Given the description of an element on the screen output the (x, y) to click on. 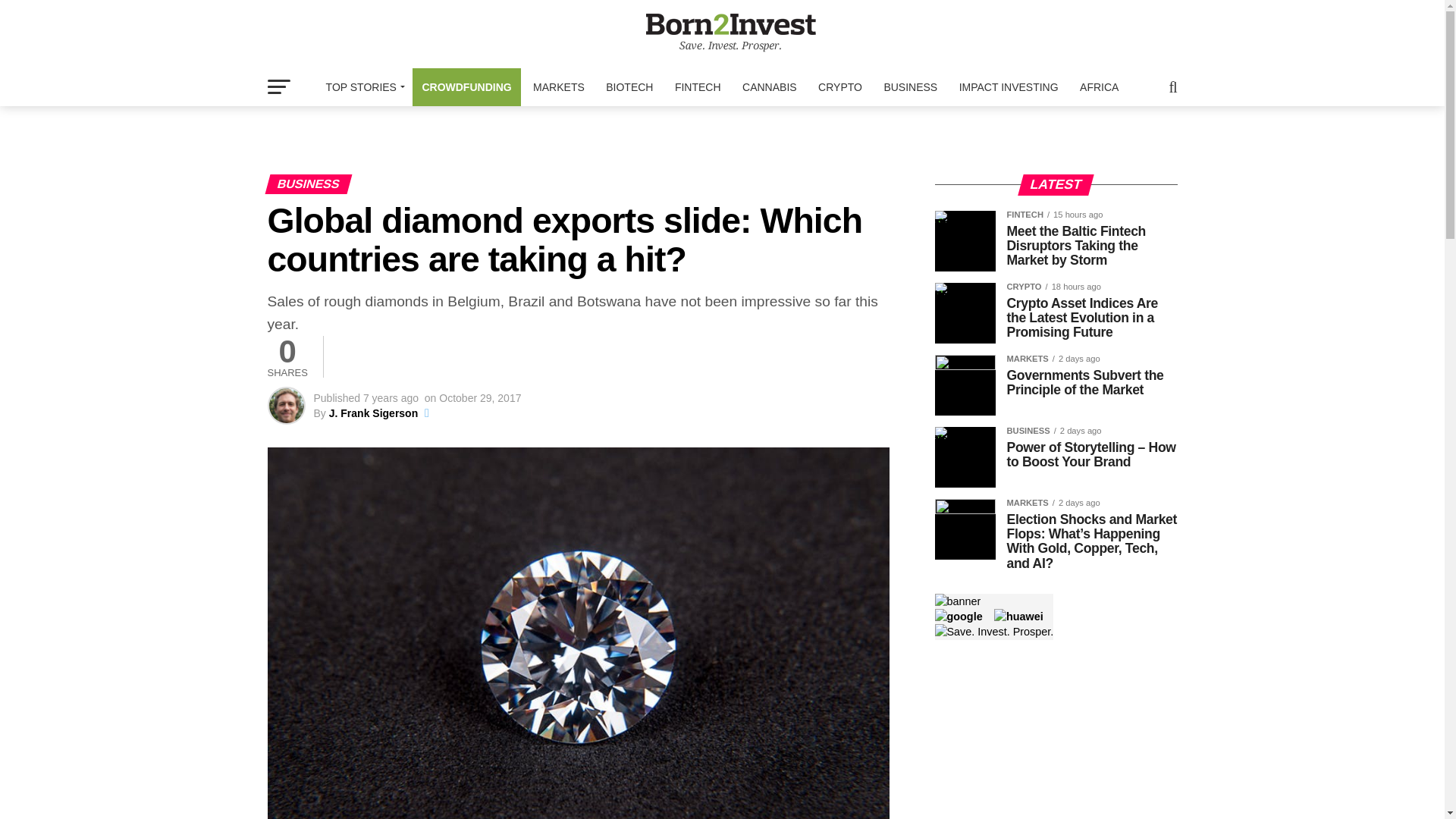
IMPACT INVESTING (1008, 86)
FINTECH (697, 86)
CROWDFUNDING (465, 86)
AFRICA (1098, 86)
BUSINESS (910, 86)
CRYPTO (839, 86)
TOP STORIES (363, 86)
BIOTECH (629, 86)
CANNABIS (769, 86)
MARKETS (559, 86)
J. Frank Sigerson (373, 413)
Posts by J. Frank Sigerson (373, 413)
